Given the description of an element on the screen output the (x, y) to click on. 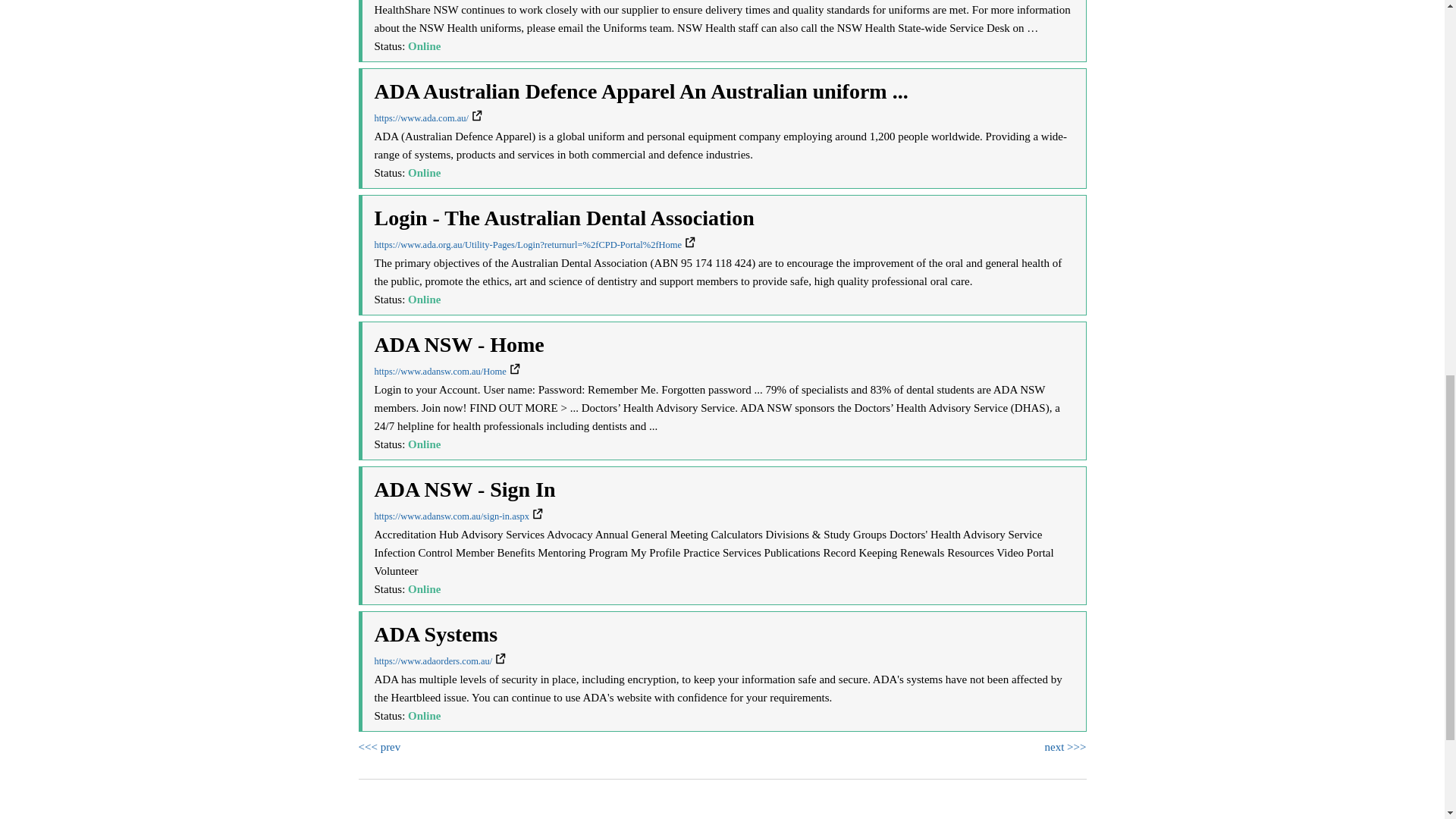
ADA Systems Ada Uniforms Nsw Health Information (440, 661)
ADA NSW - Home Ada Uniforms Nsw Health Information (447, 371)
ADA NSW - Sign In Ada Uniforms Nsw Health Information (458, 516)
